Given the description of an element on the screen output the (x, y) to click on. 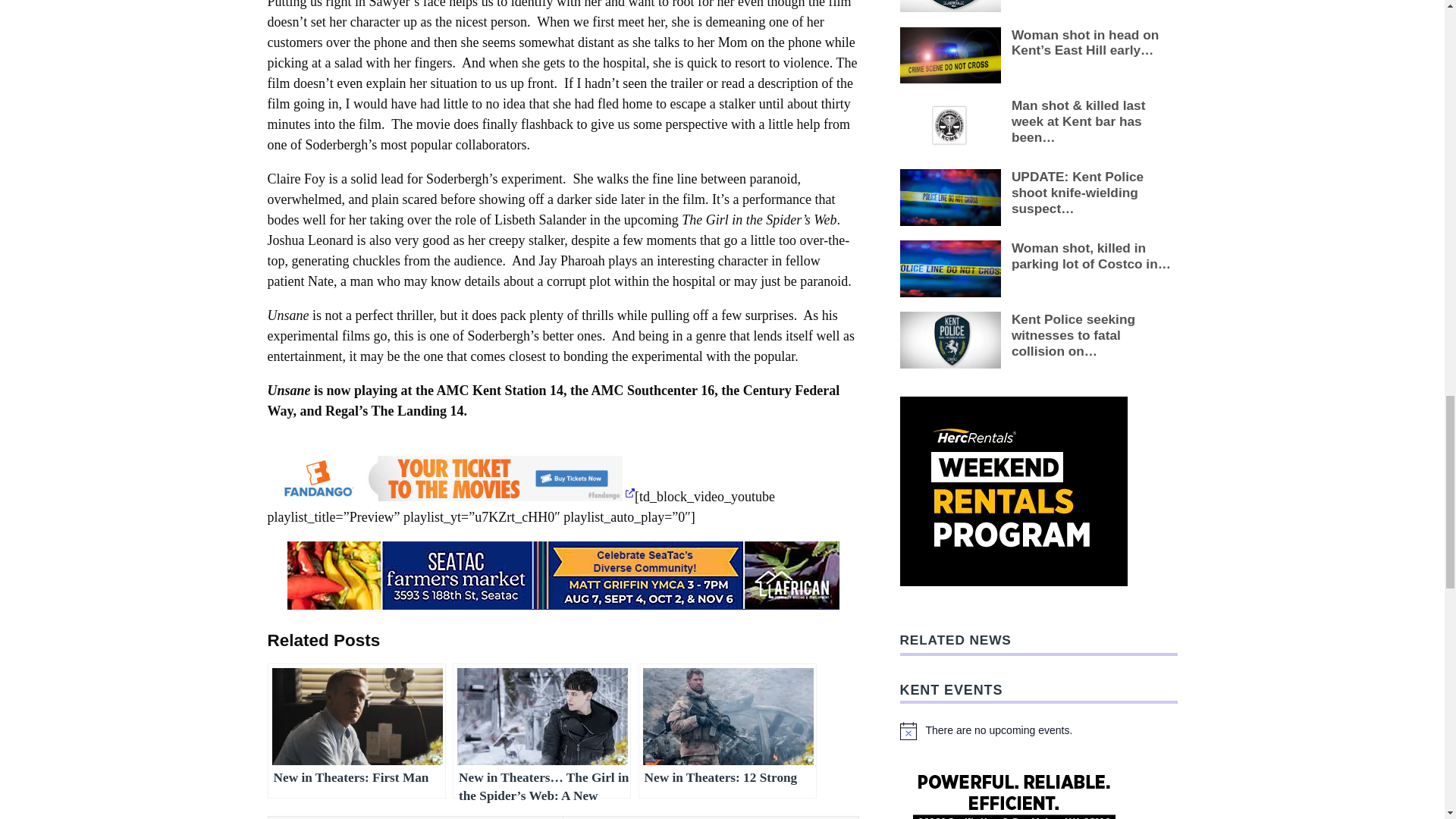
New in Theaters: First Man (355, 730)
SeaTac Farmers Market at Matt Griffin YMCA (562, 578)
